Given the description of an element on the screen output the (x, y) to click on. 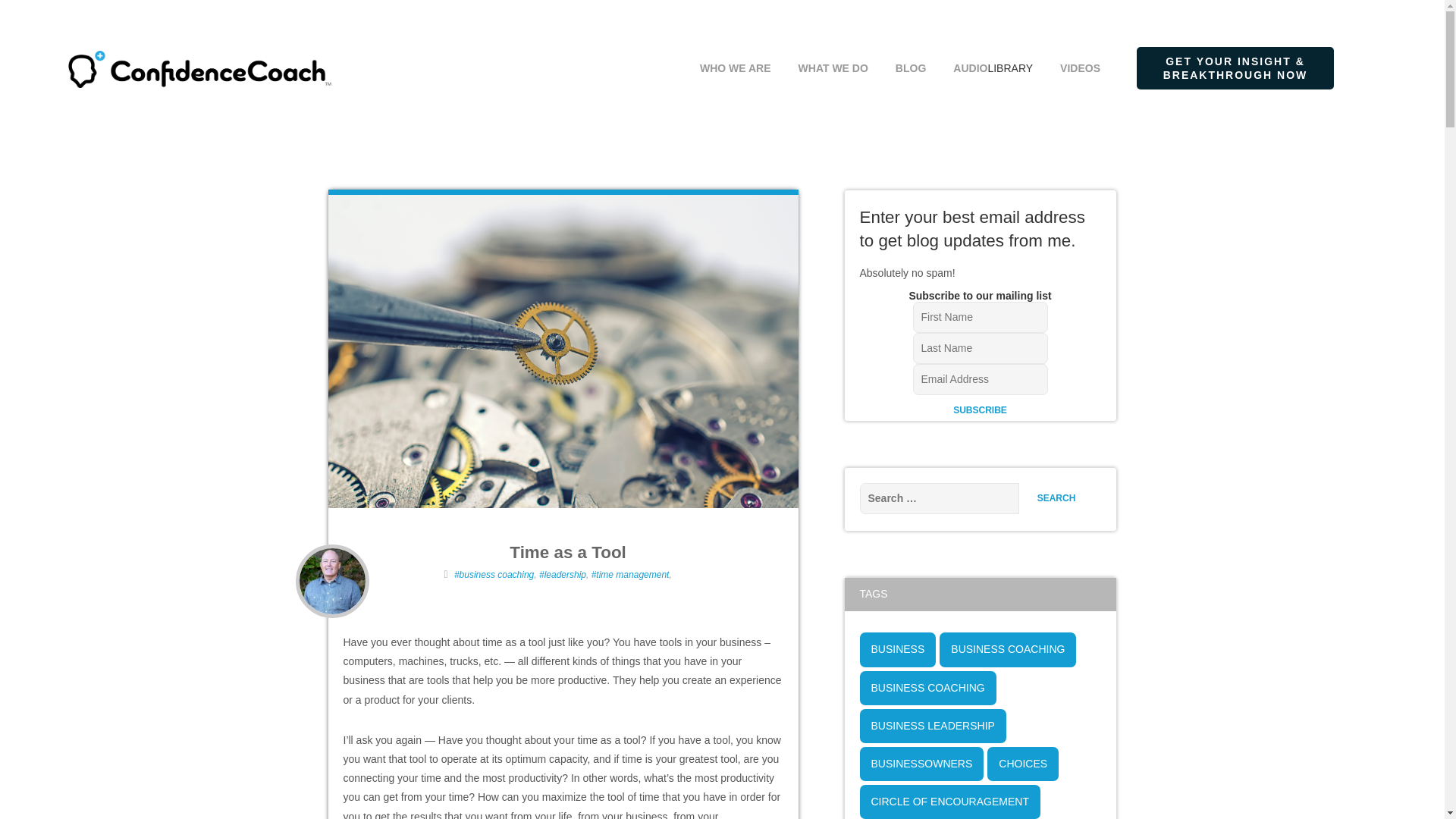
BUSINESS COACHING (927, 687)
BUSINESS LEADERSHIP (933, 725)
WHO WE ARE (734, 46)
AUDIOLIBRARY (992, 46)
VIDEOS (1079, 46)
CHOICES (1022, 763)
BUSINESSOWNERS (922, 763)
Search (1055, 498)
BLOG (910, 46)
BUSINESS COACHING (1007, 649)
Search (1055, 498)
Subscribe (980, 409)
CIRCLE OF ENCOURAGEMENT (950, 801)
Subscribe (980, 409)
WHAT WE DO (833, 46)
